Given the description of an element on the screen output the (x, y) to click on. 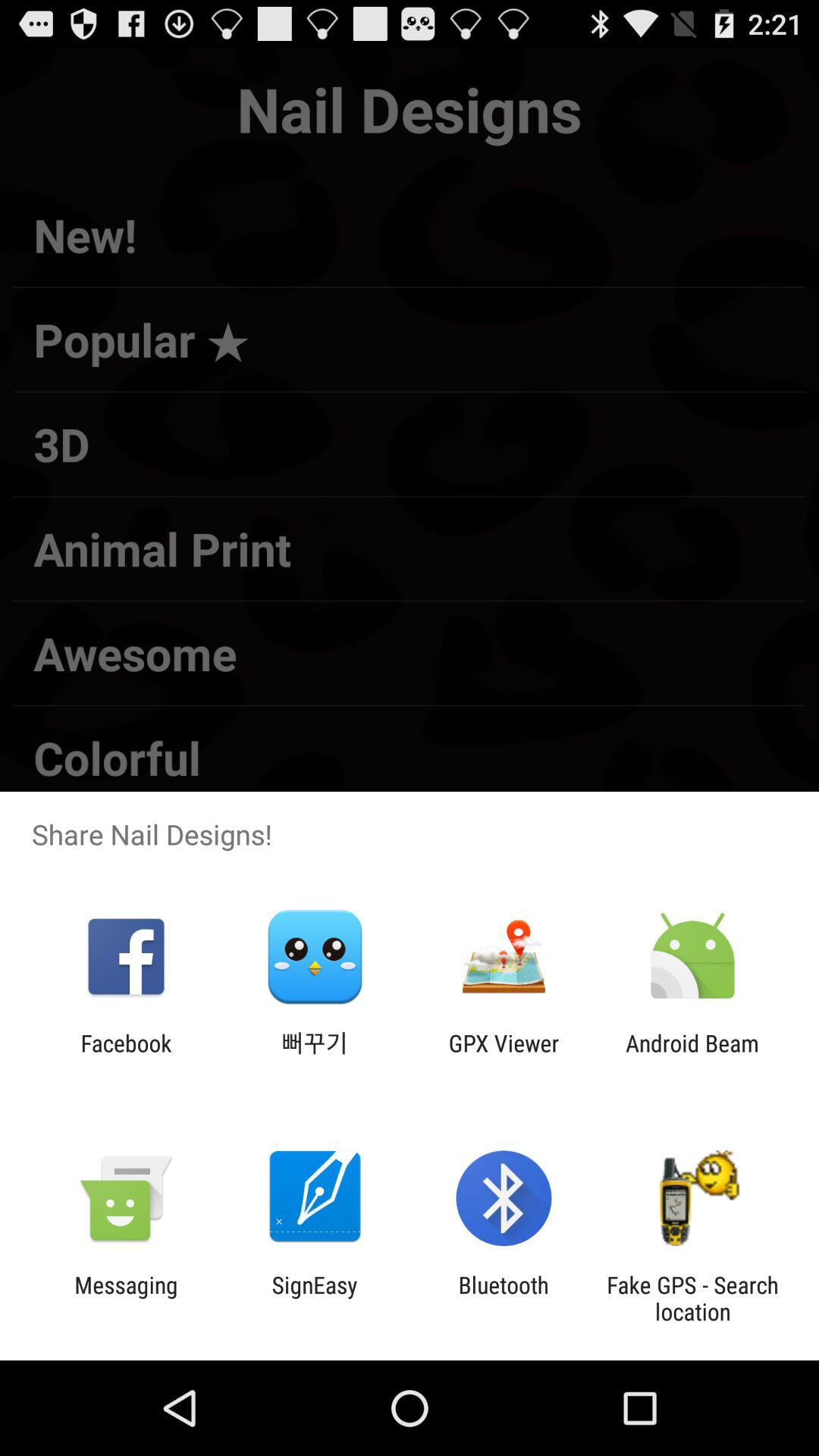
choose the android beam (692, 1056)
